Given the description of an element on the screen output the (x, y) to click on. 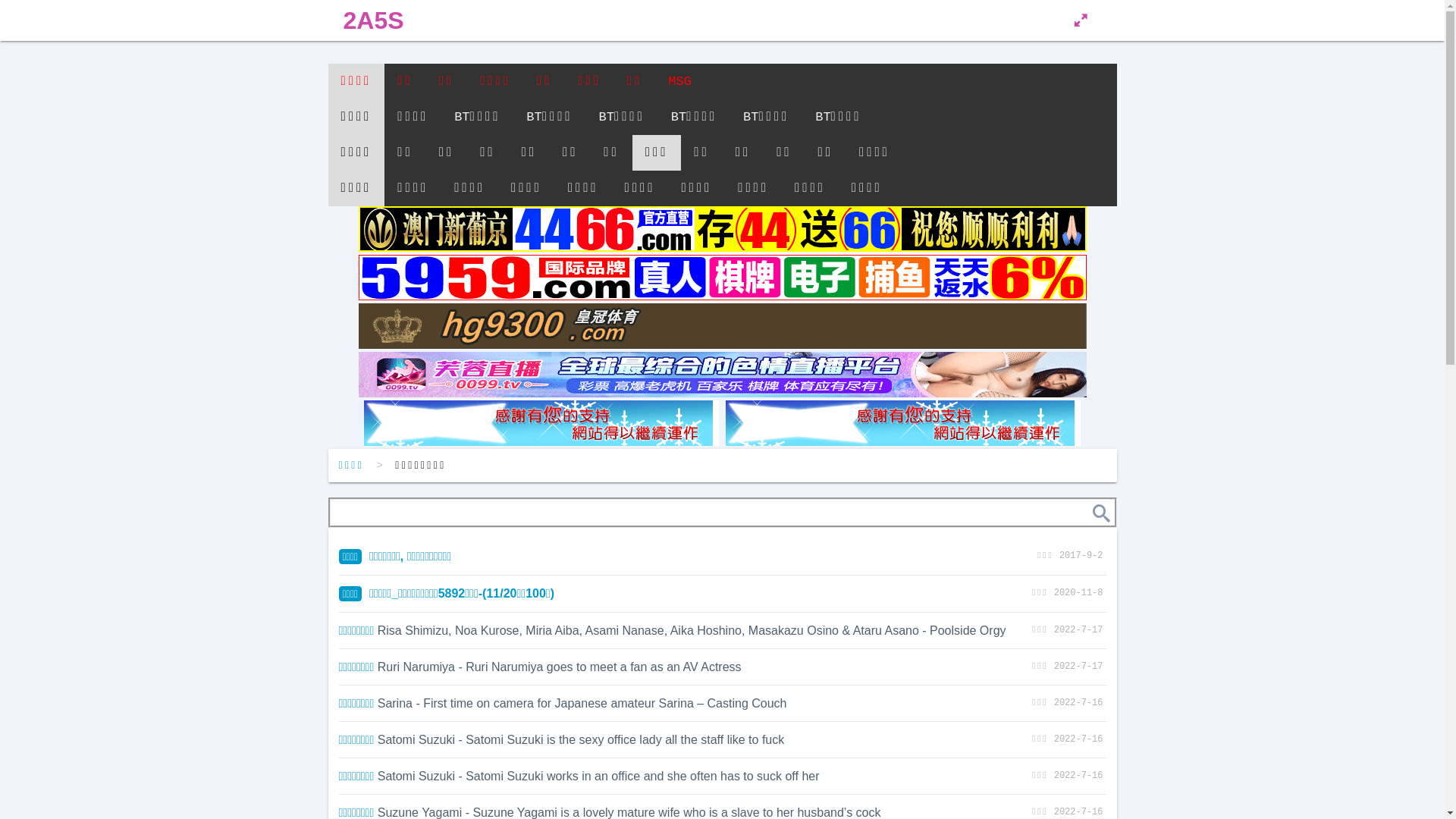
2A5S Element type: text (372, 20)
MSG Element type: text (679, 81)
